Given the description of an element on the screen output the (x, y) to click on. 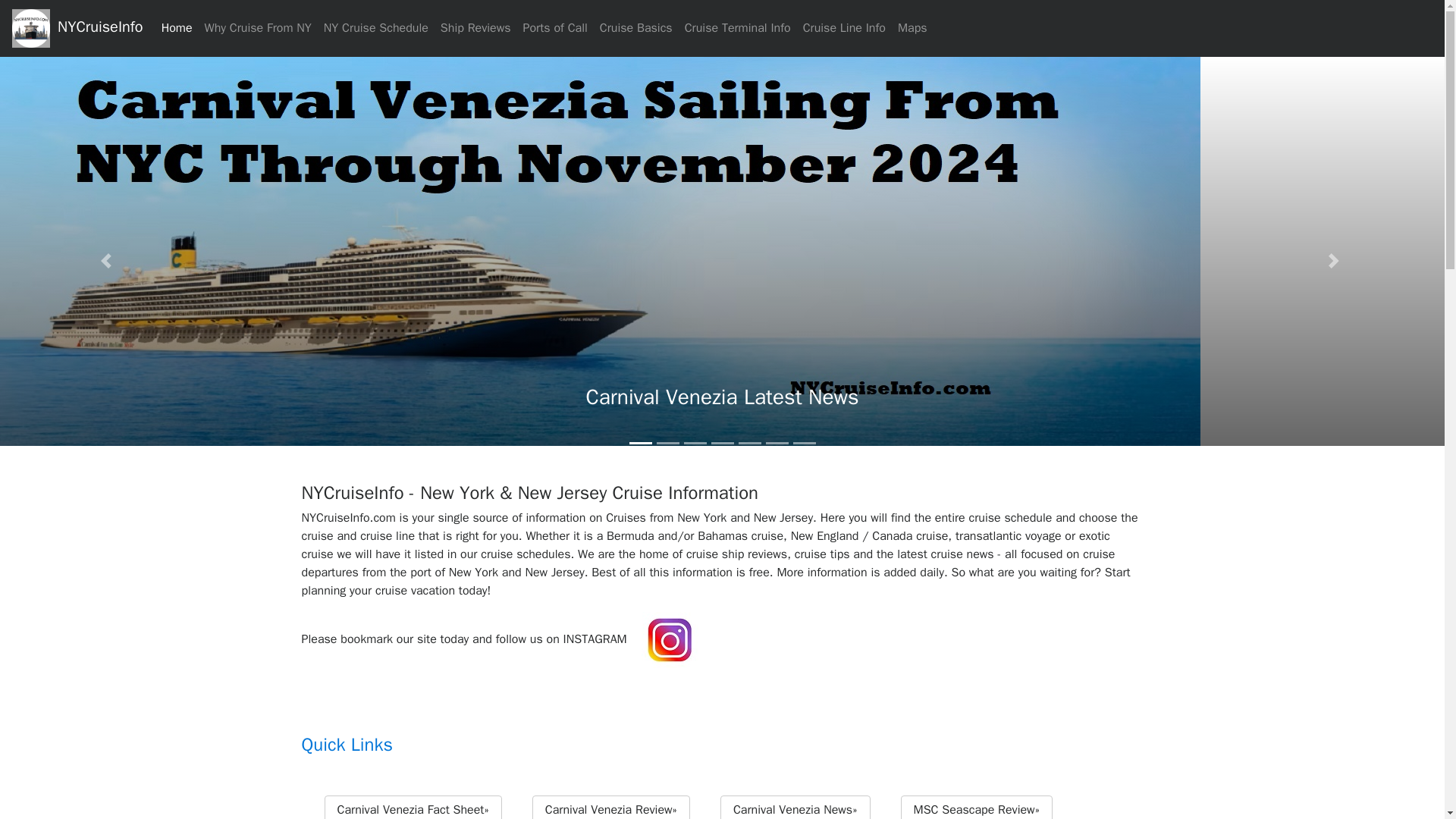
NY Cruise Schedule (375, 28)
NYCruiseInfo (76, 27)
Quick Links (721, 729)
Why Cruise From NY (257, 28)
Cruise Line Info (843, 28)
Ports of Call (555, 28)
Cruise Terminal Info (737, 28)
Cruise Basics (636, 28)
Maps (912, 28)
Ship Reviews (474, 28)
